Given the description of an element on the screen output the (x, y) to click on. 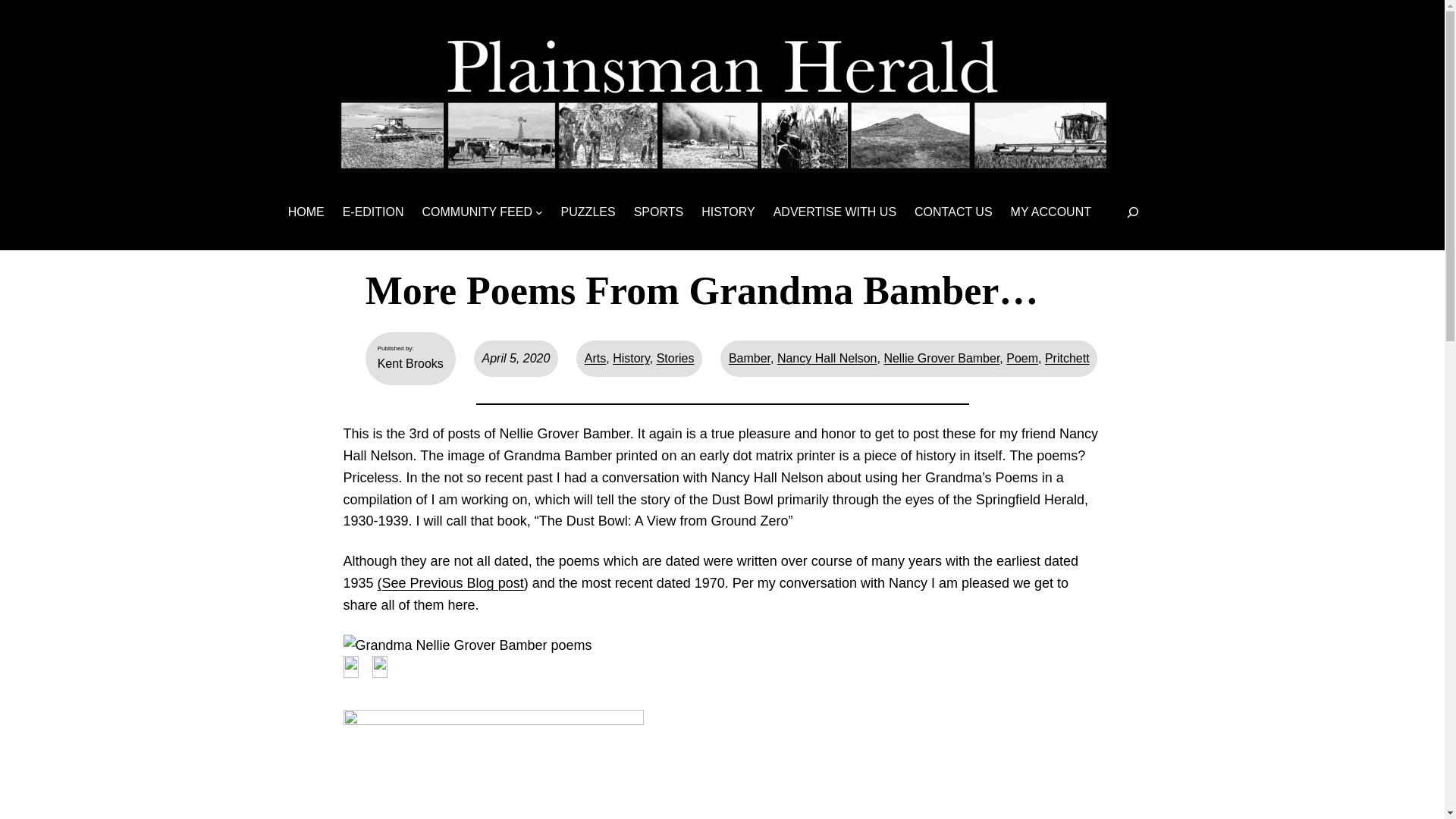
Nellie Grover Bamber (940, 358)
SPORTS (658, 211)
Stories (675, 358)
Nancy Hall Nelson (827, 358)
Arts (595, 358)
COMMUNITY FEED (477, 211)
PUZZLES (587, 211)
Pritchett (1067, 358)
History (630, 358)
MY ACCOUNT (1050, 211)
